Given the description of an element on the screen output the (x, y) to click on. 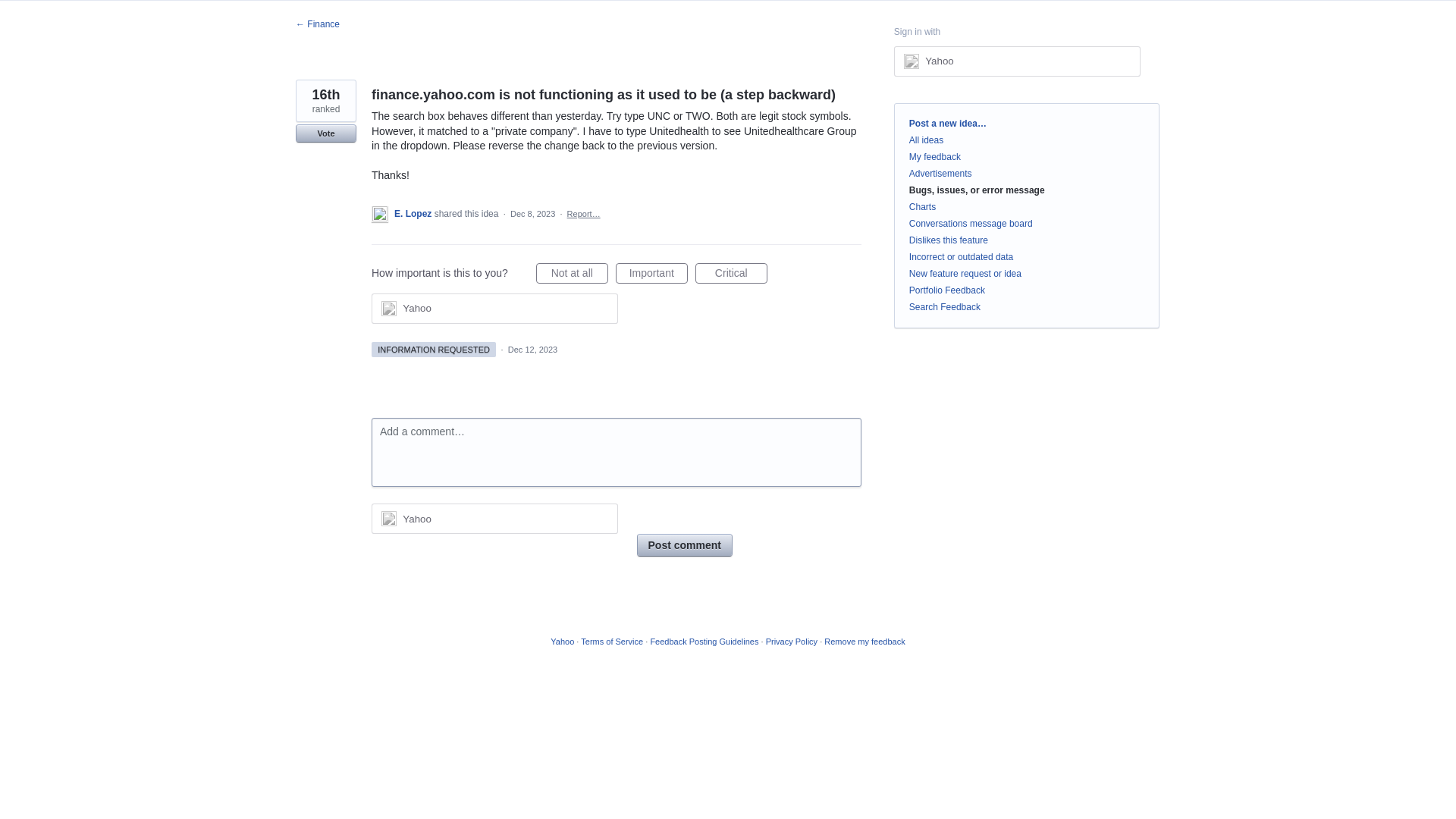
Yahoo (494, 518)
Yahoo (1016, 60)
This idea is Information Requested - updated 8 months ago (433, 349)
Not at all (571, 272)
Yahoo (416, 307)
Yahoo sign in (494, 308)
Skip to content (12, 12)
View all ideas in category Advertisements  (940, 173)
Important (651, 272)
Yahoo (938, 60)
Vote (325, 133)
INFORMATION REQUESTED (433, 348)
Critical (731, 272)
View all ideas in category Bugs, issues, or error message  (976, 190)
Yahoo sign in (494, 518)
